Given the description of an element on the screen output the (x, y) to click on. 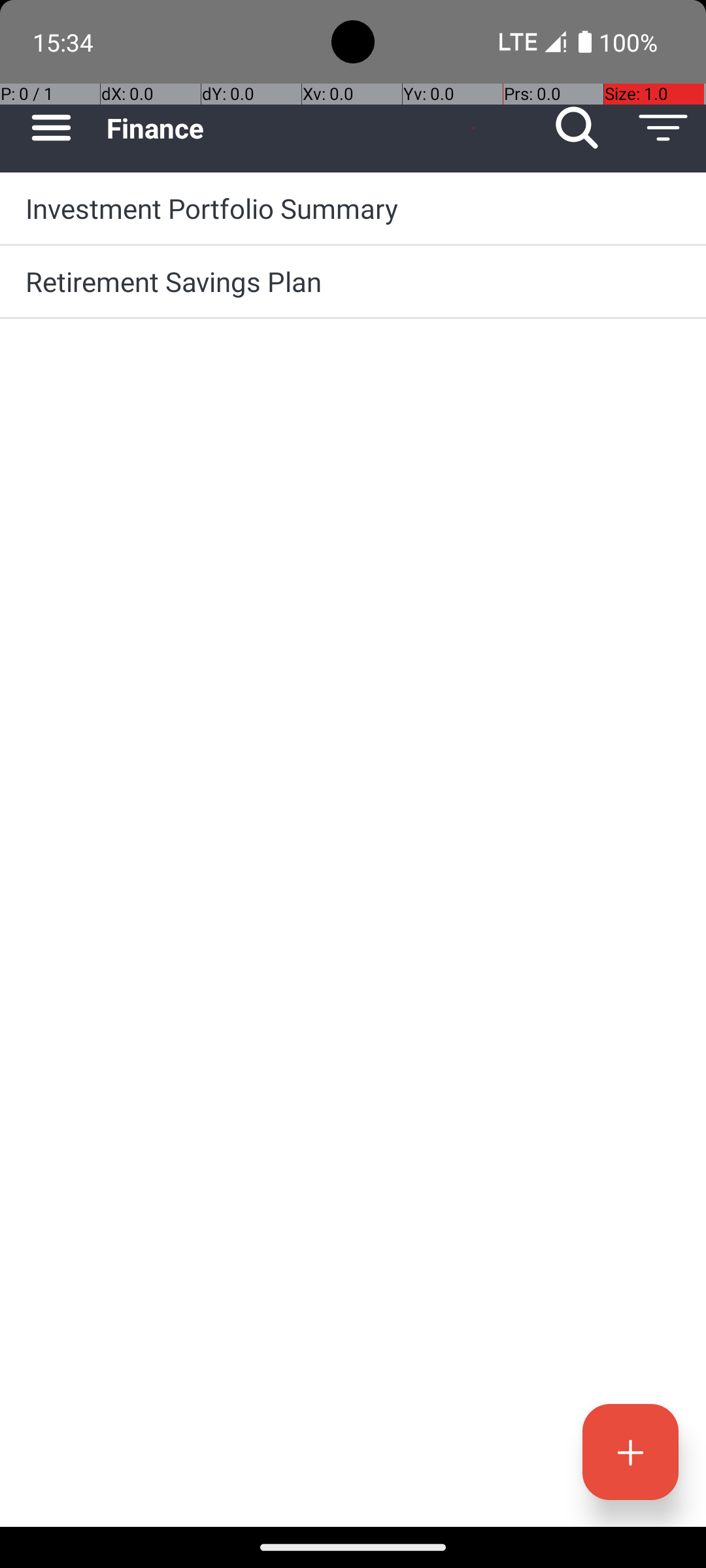
Investment Portfolio Summary Element type: android.widget.TextView (352, 207)
